Given the description of an element on the screen output the (x, y) to click on. 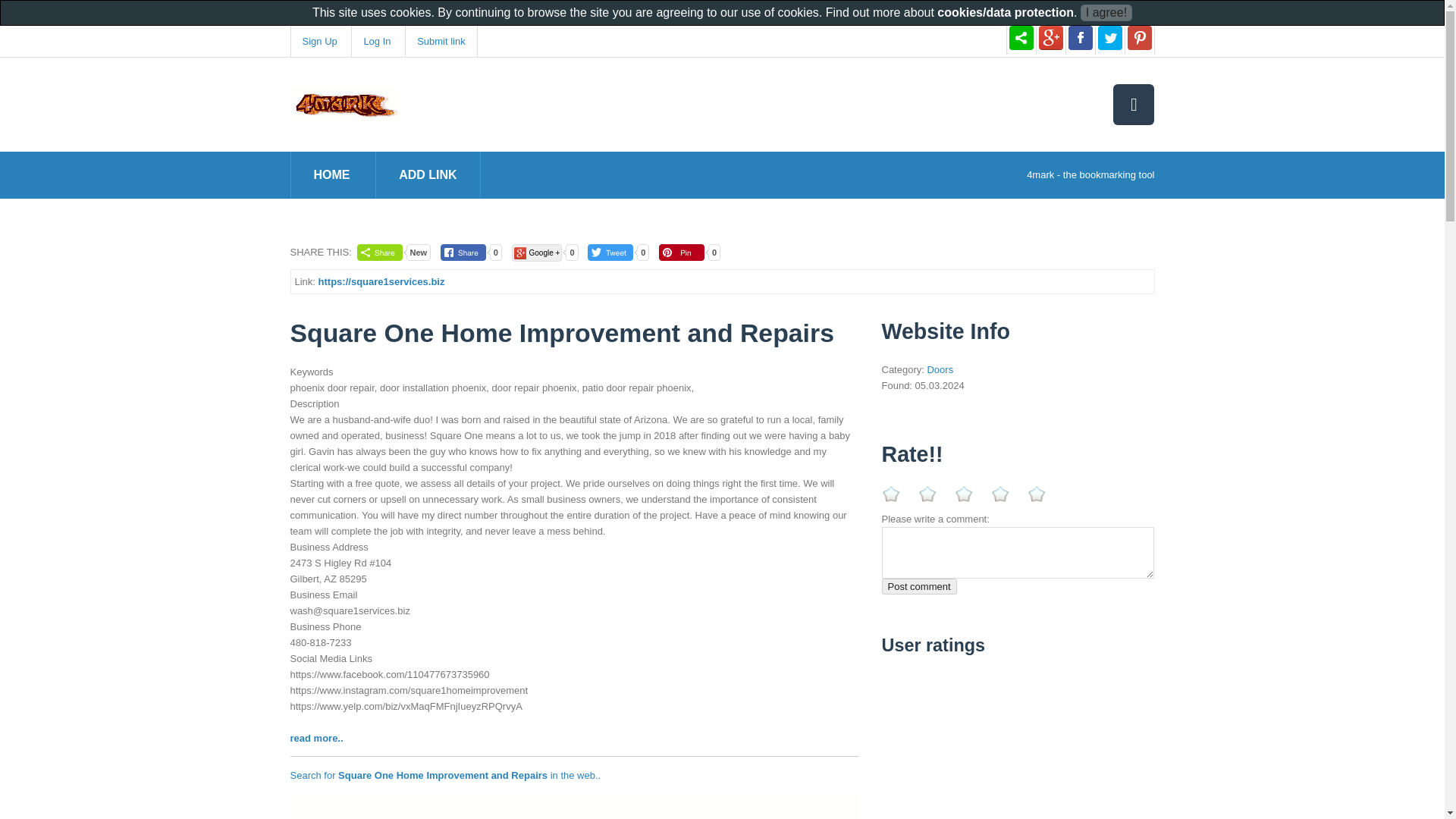
Sign Up (318, 40)
read more.. (315, 737)
Submit link (440, 40)
HOME (332, 174)
Log In (375, 40)
ADD LINK (427, 174)
I agree! (1106, 12)
Post comment (918, 586)
